Given the description of an element on the screen output the (x, y) to click on. 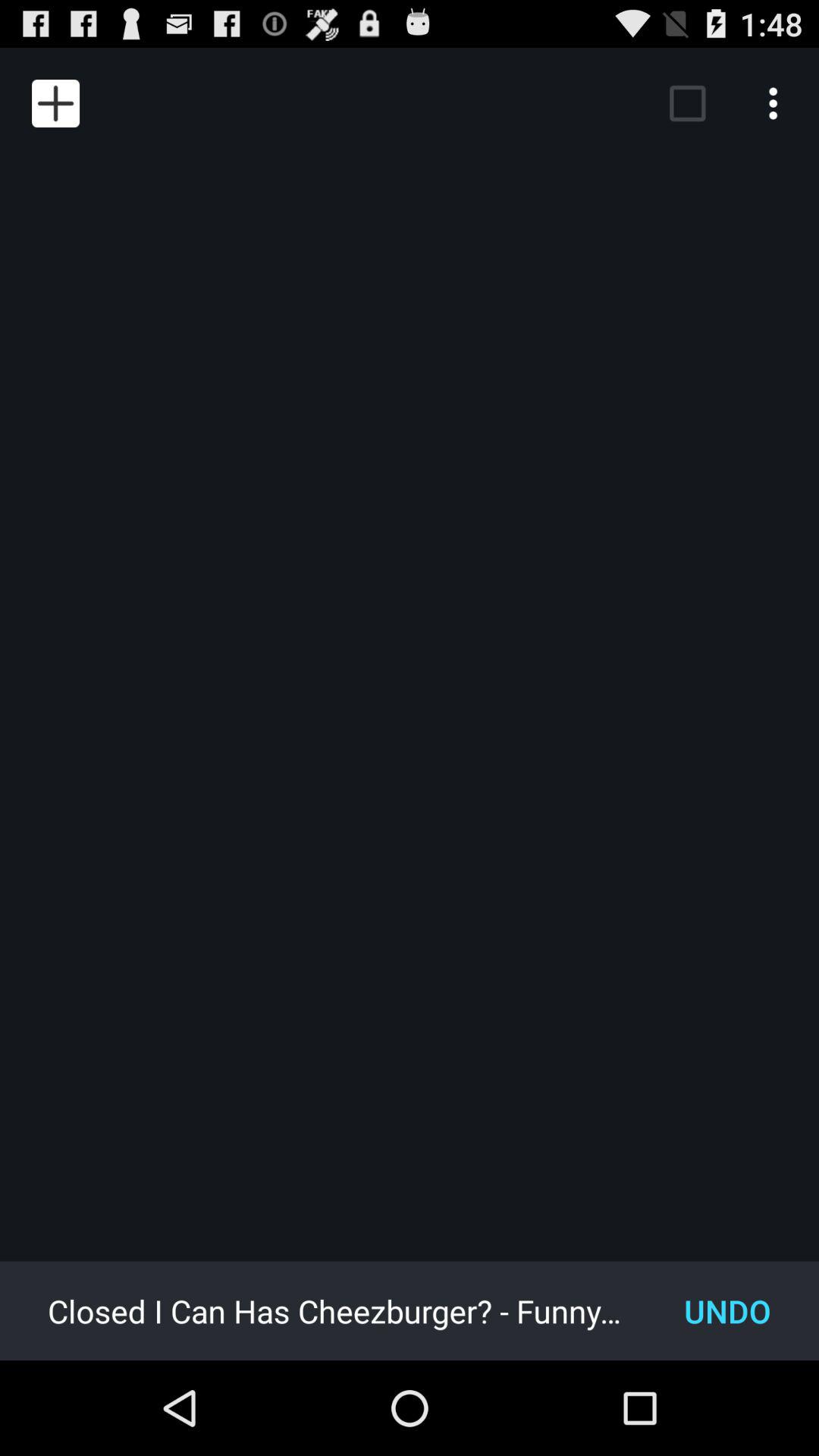
open icon above closed i can item (55, 103)
